Given the description of an element on the screen output the (x, y) to click on. 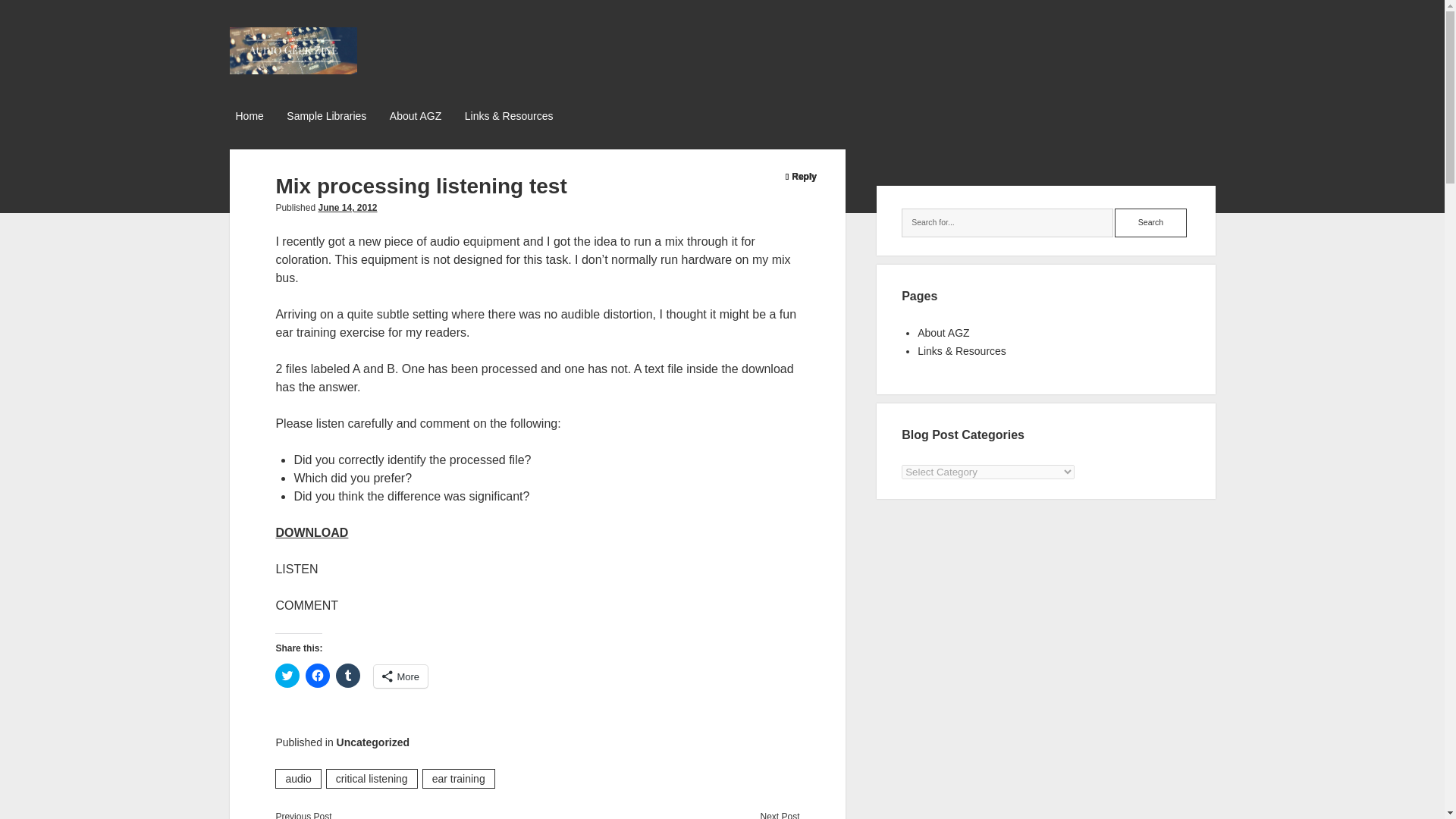
Click to share on Facebook (317, 675)
Sample Libraries (326, 116)
Home (248, 116)
More (401, 676)
audio (297, 778)
Search (1150, 222)
ear training (458, 778)
June 14, 2012 (347, 207)
Search (1150, 222)
Uncategorized (372, 742)
View all posts tagged ear training (458, 778)
Audio Geek Zine (292, 67)
View all posts in Uncategorized (372, 742)
View all posts tagged audio (297, 778)
Download listening test files (311, 532)
